Given the description of an element on the screen output the (x, y) to click on. 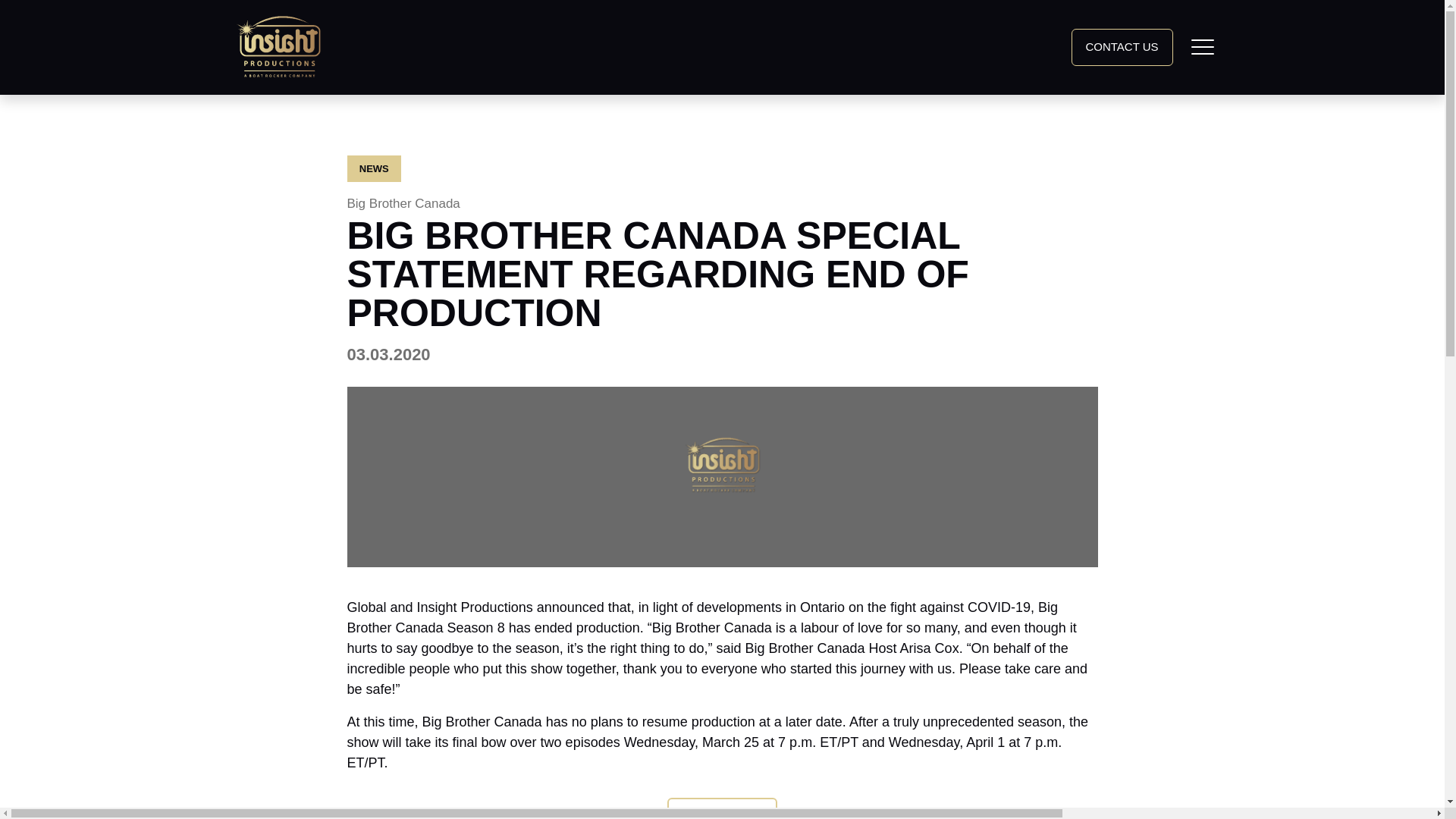
Home (279, 46)
NEWS (374, 168)
CONTACT US (403, 203)
Toggle Navigation (1121, 47)
